Given the description of an element on the screen output the (x, y) to click on. 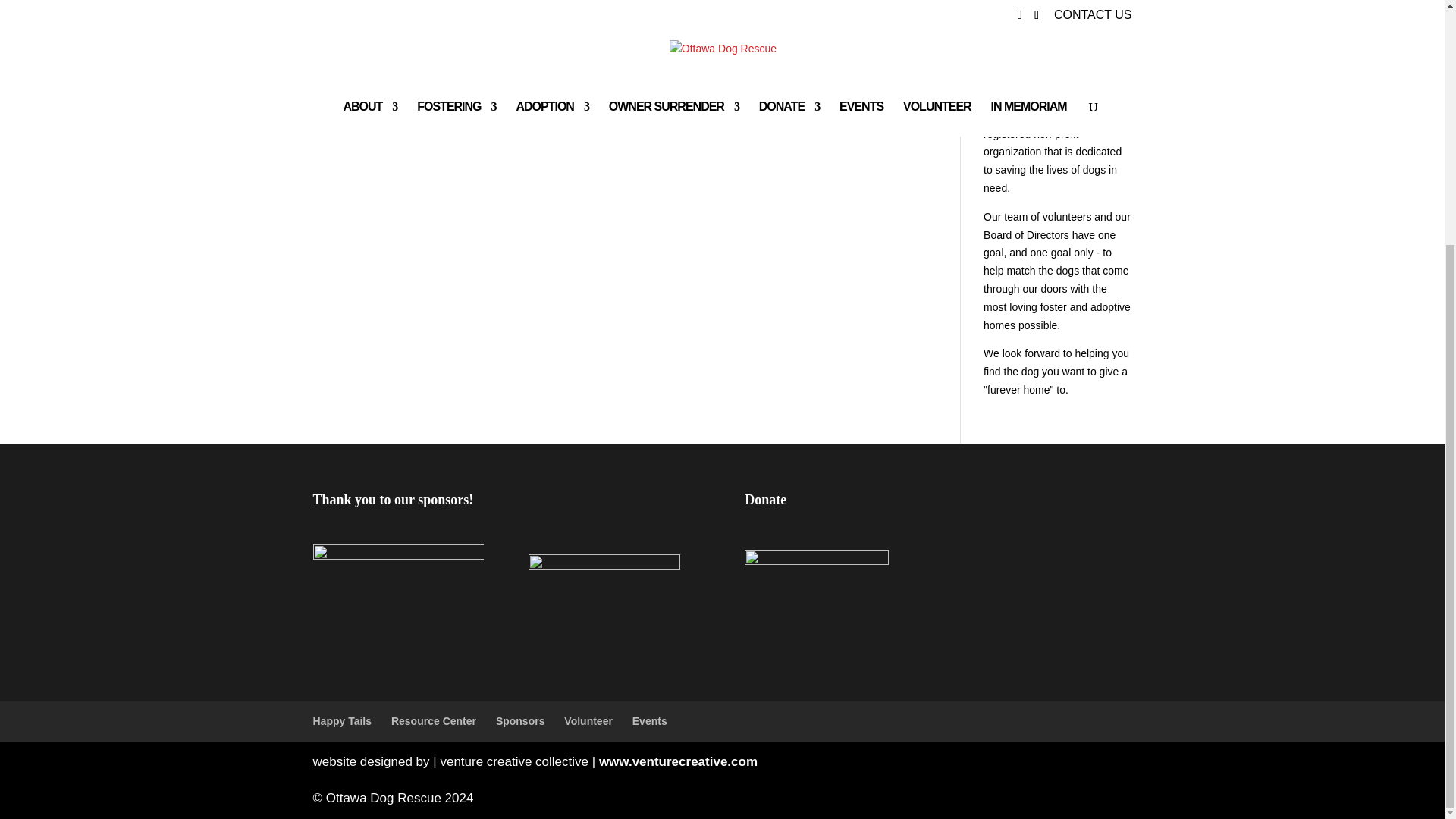
Volunteer (588, 720)
Happy Tails (342, 720)
Sponsors (520, 720)
donation (1004, 21)
Resource Center (433, 720)
